Given the description of an element on the screen output the (x, y) to click on. 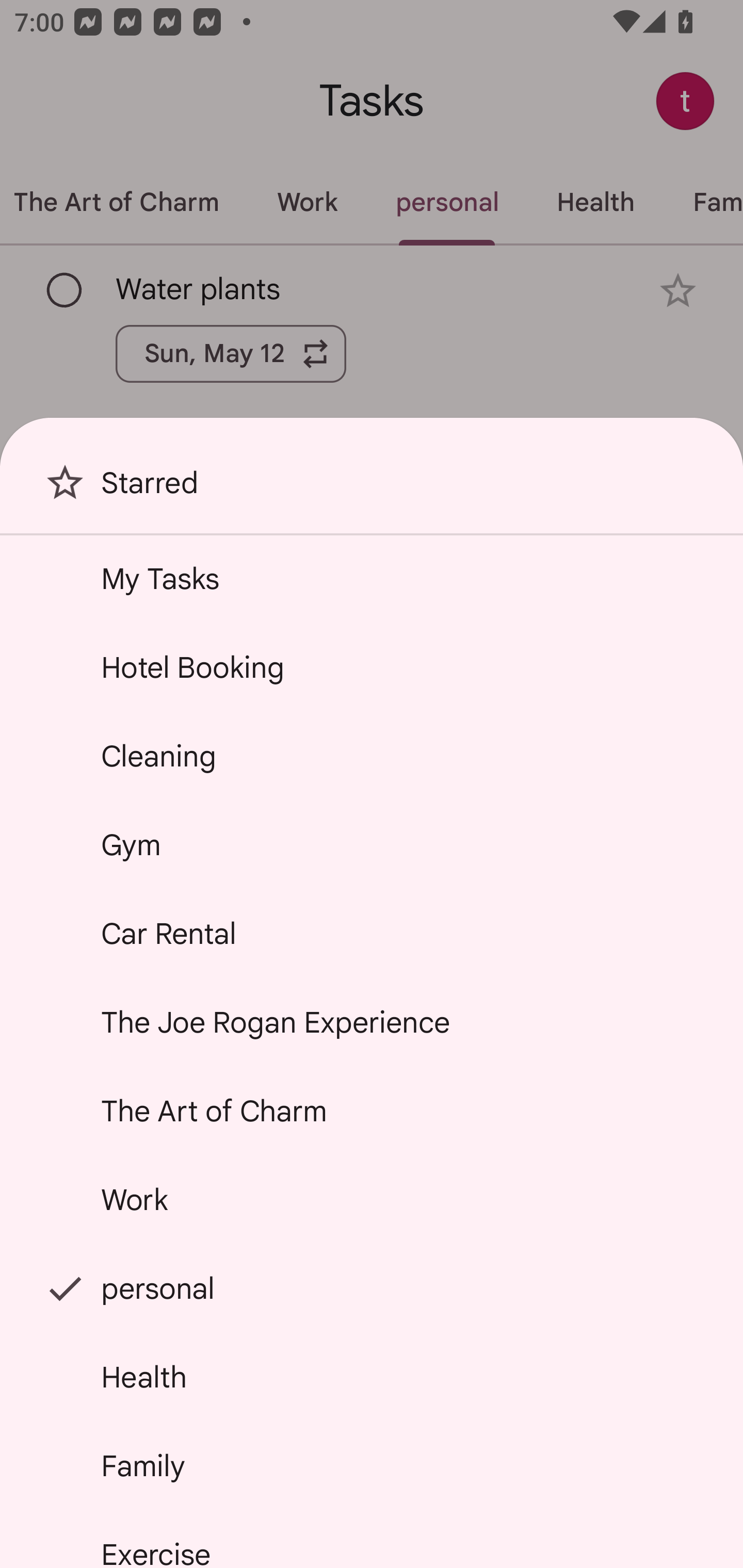
Starred (371, 489)
My Tasks (371, 578)
Hotel Booking (371, 667)
Cleaning (371, 756)
Gym (371, 844)
Car Rental (371, 933)
The Joe Rogan Experience (371, 1022)
The Art of Charm (371, 1110)
Work (371, 1200)
personal (371, 1287)
Health (371, 1377)
Family (371, 1465)
Exercise (371, 1539)
